Given the description of an element on the screen output the (x, y) to click on. 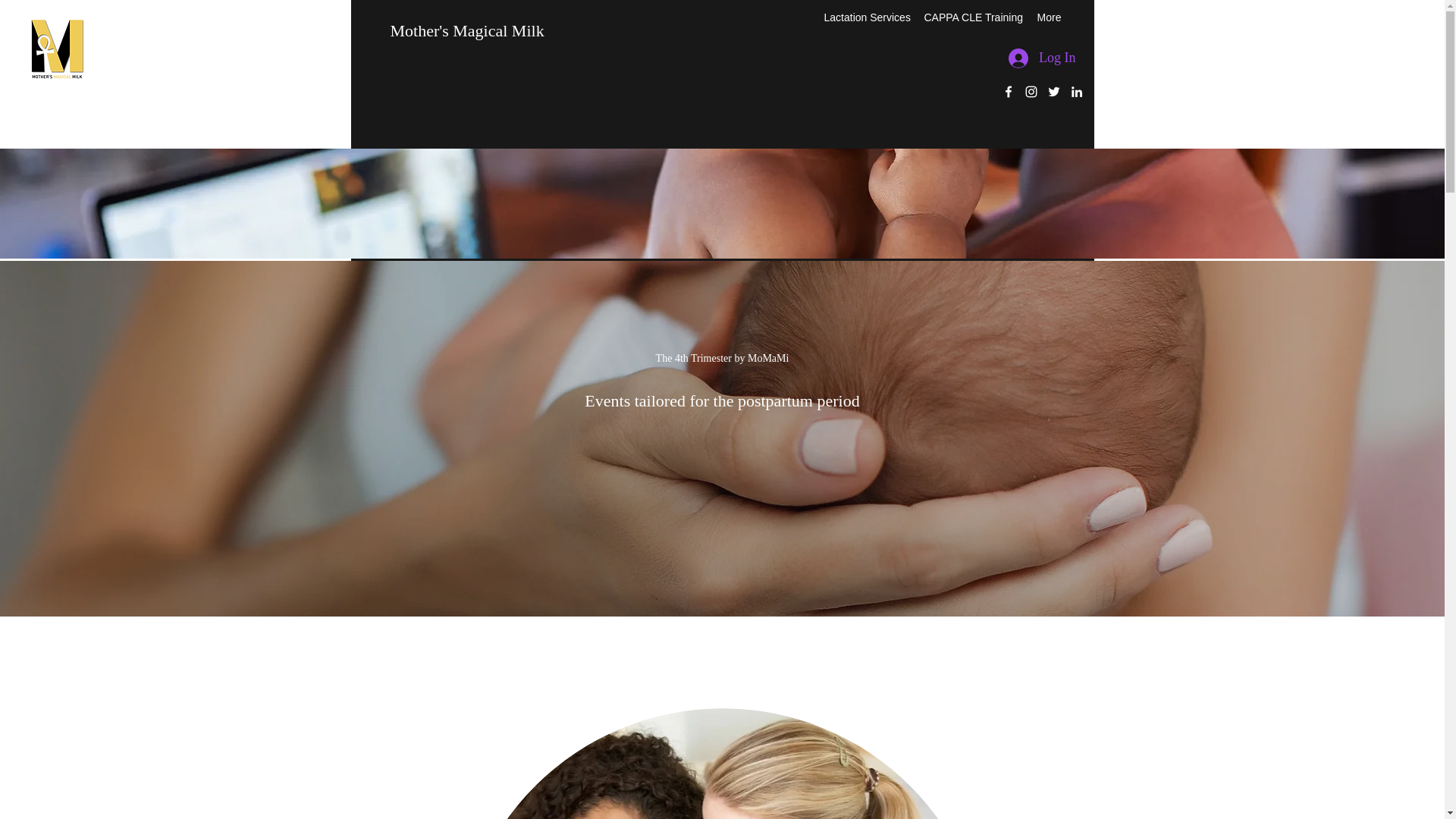
Log In (1041, 58)
Mother's Magical Milk (466, 30)
CAPPA CLE Training (972, 16)
Lactation Services (864, 16)
